Given the description of an element on the screen output the (x, y) to click on. 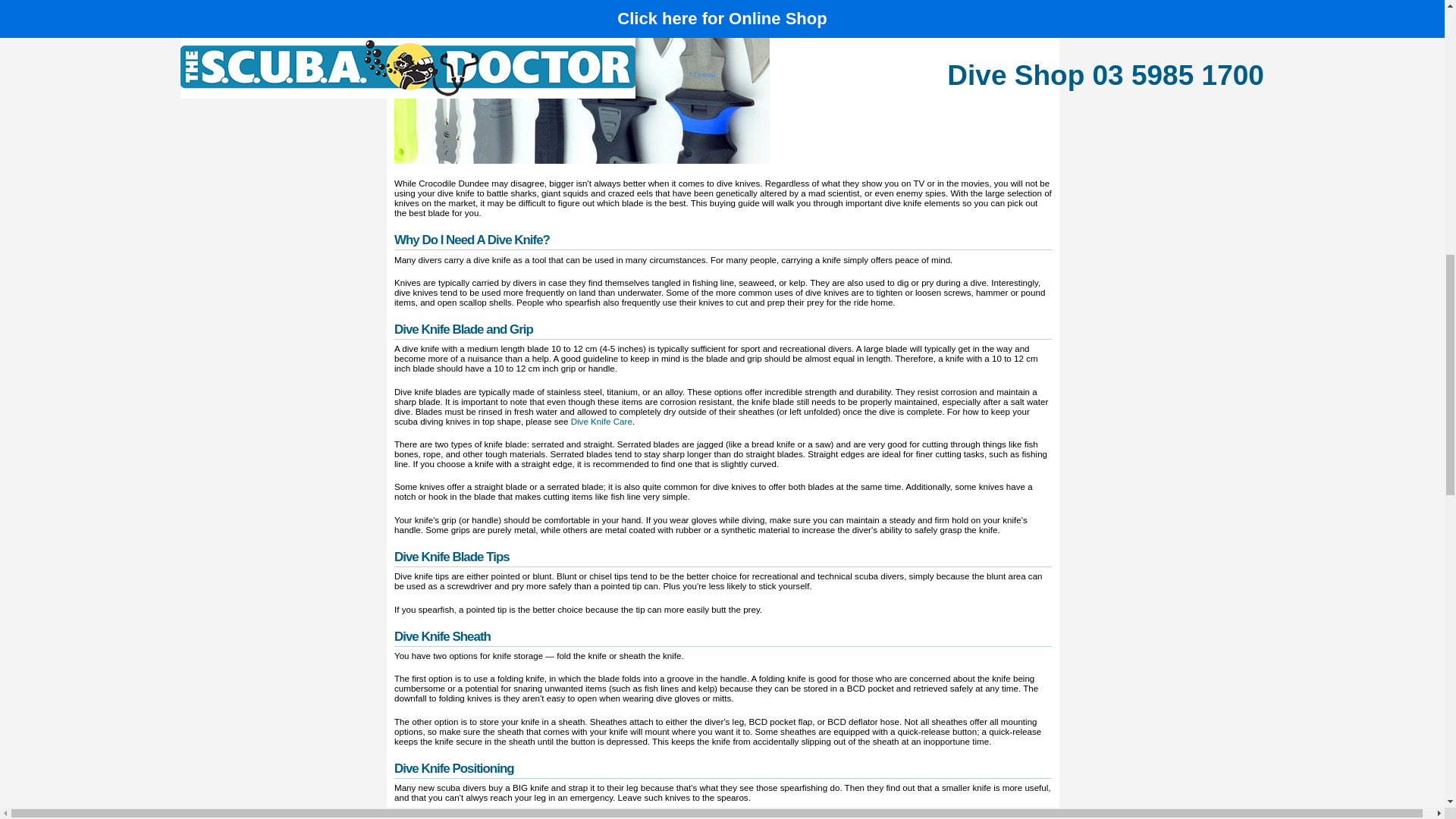
Dive Knife Care - Keep your scuba diving knives in top shape (600, 420)
Buying a Dive Knife (582, 81)
